Given the description of an element on the screen output the (x, y) to click on. 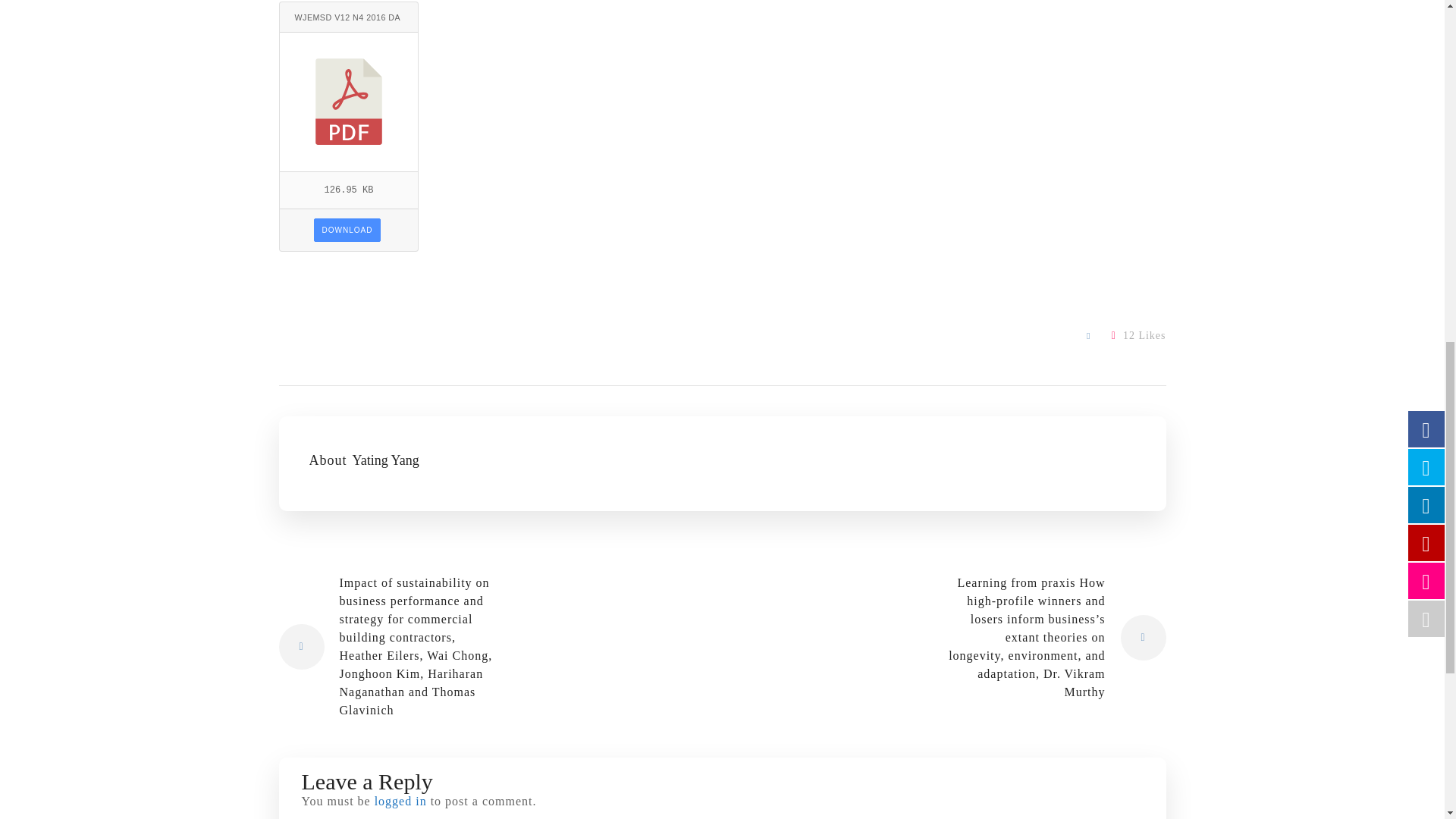
WJEMSD V12 N4 2016 Damoah et al..pdf (348, 17)
Like (1139, 335)
